Given the description of an element on the screen output the (x, y) to click on. 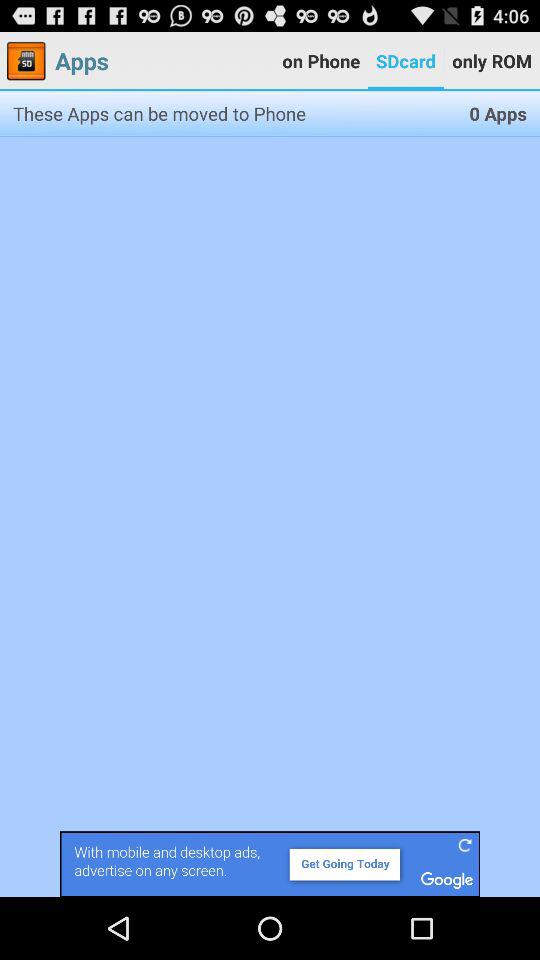
click advertisement (270, 864)
